Given the description of an element on the screen output the (x, y) to click on. 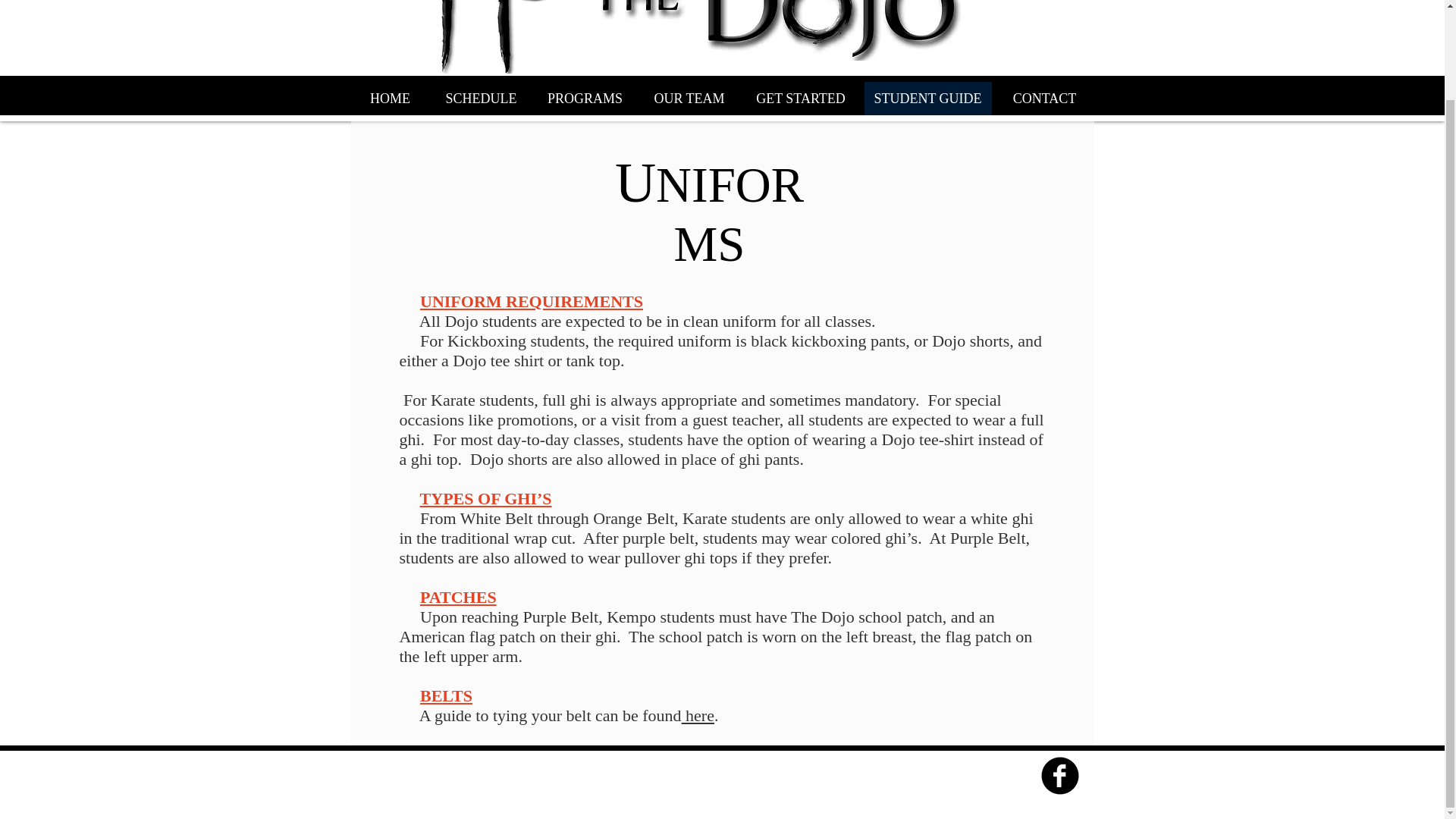
PROGRAMS (585, 98)
OUR TEAM (690, 98)
 here (697, 714)
STUDENT GUIDE (927, 98)
CONTACT (1044, 98)
HOME (390, 98)
GET STARTED (800, 98)
SCHEDULE (481, 98)
